Given the description of an element on the screen output the (x, y) to click on. 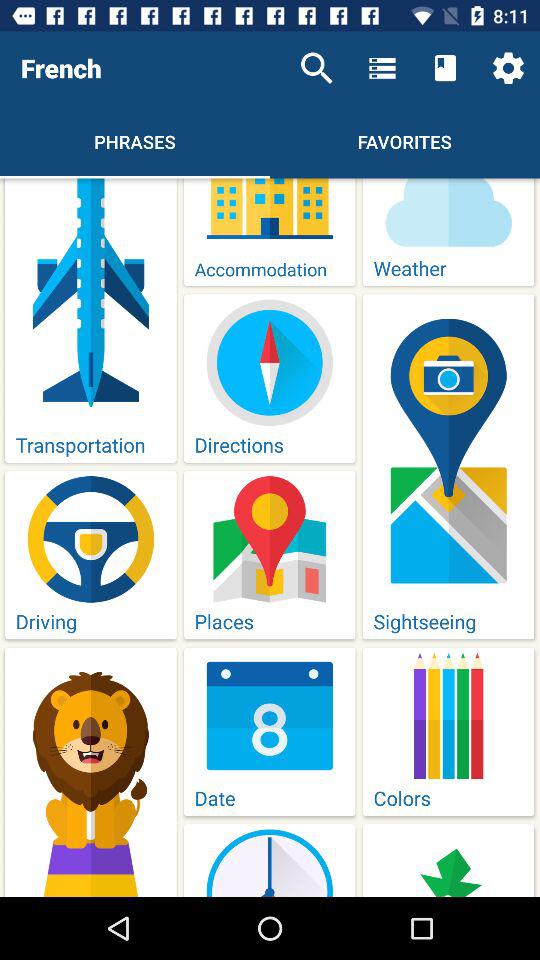
launch the item above the favorites item (381, 67)
